Given the description of an element on the screen output the (x, y) to click on. 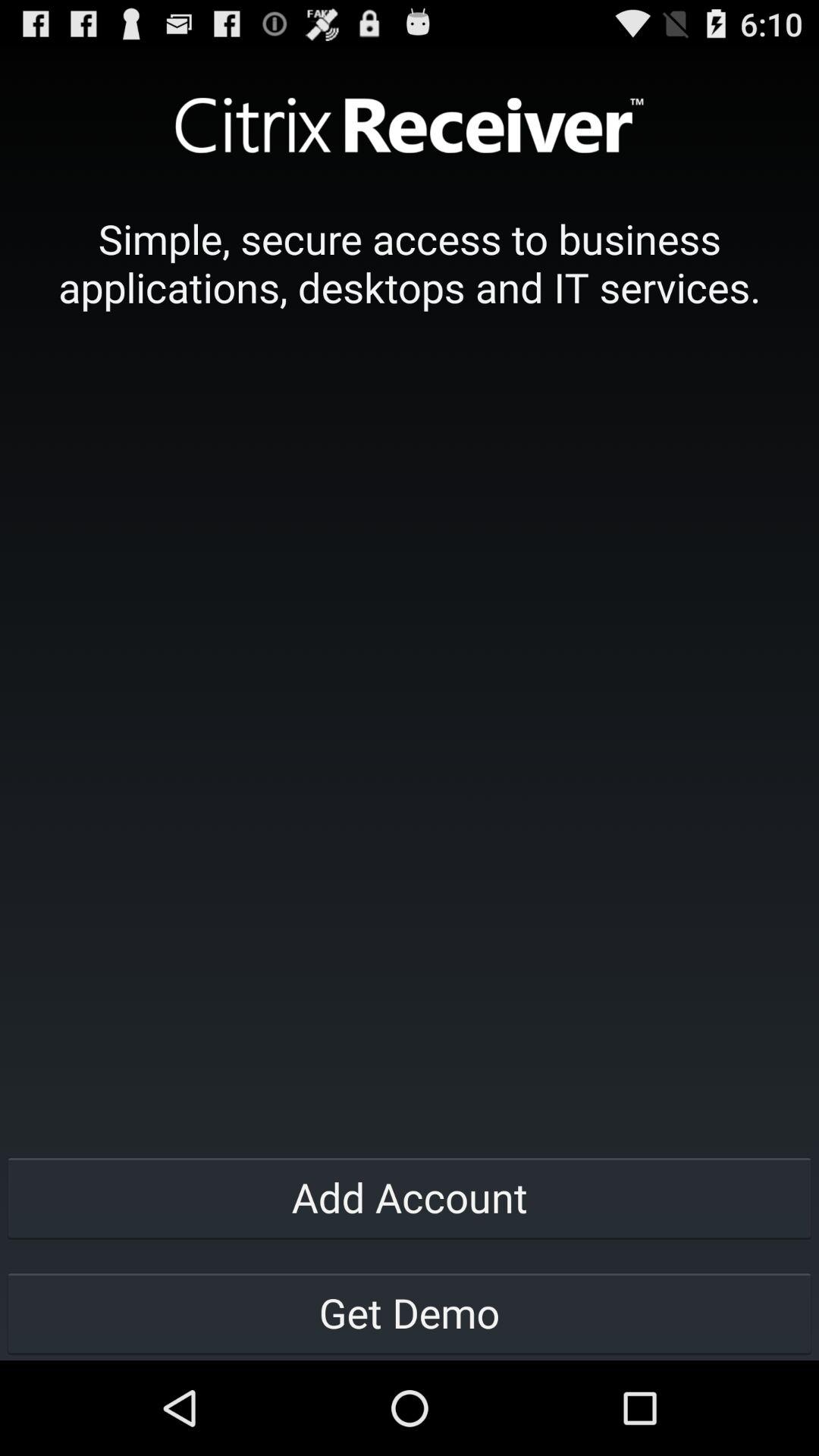
press get demo button (409, 1312)
